Given the description of an element on the screen output the (x, y) to click on. 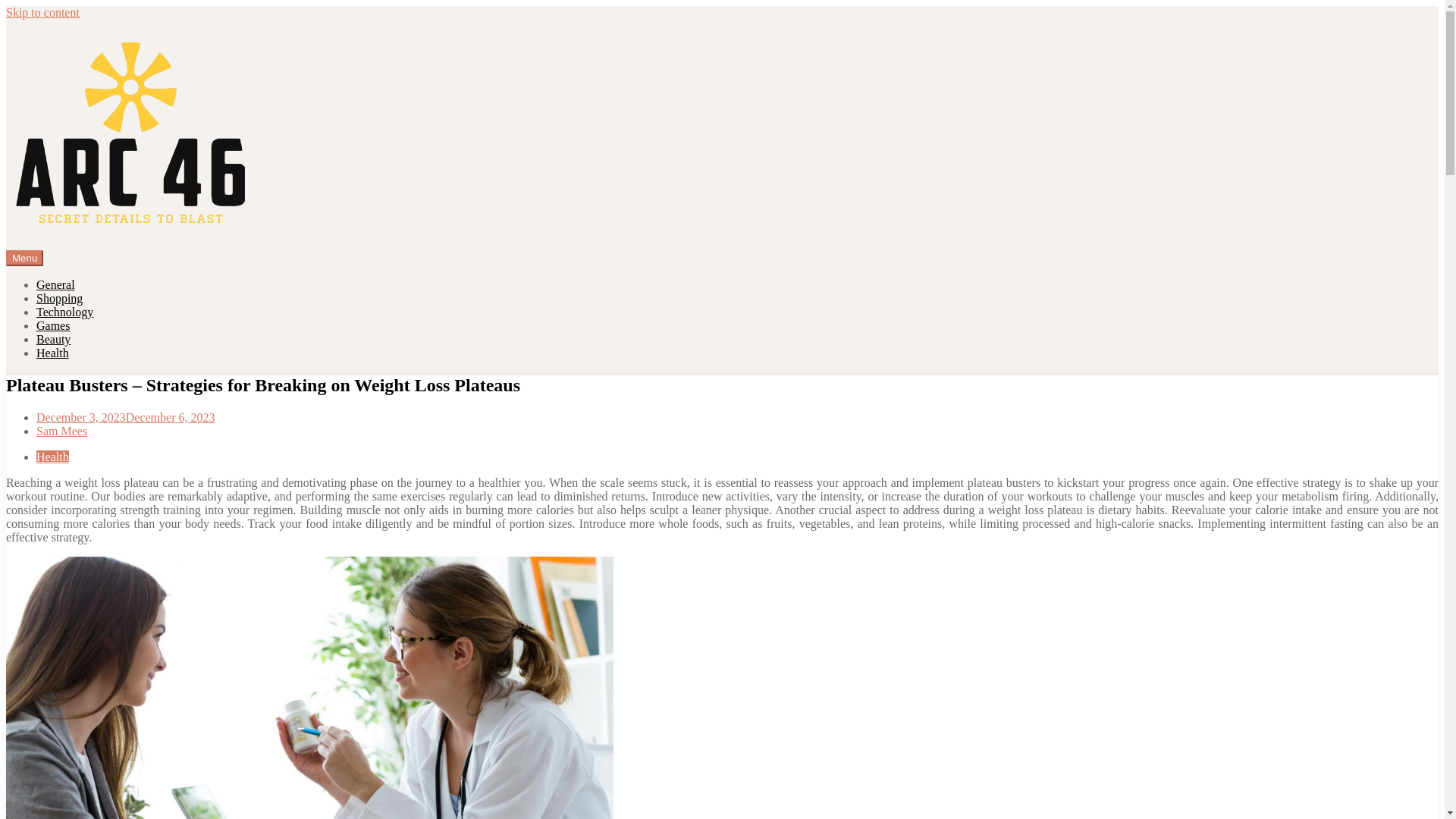
December 3, 2023December 6, 2023 (125, 417)
Shopping (59, 297)
General (55, 284)
Technology (64, 311)
Health (52, 352)
Skip to content (42, 11)
Menu (24, 258)
Health (52, 456)
Beauty (52, 338)
Games (52, 325)
Sam Mees (61, 431)
